Given the description of an element on the screen output the (x, y) to click on. 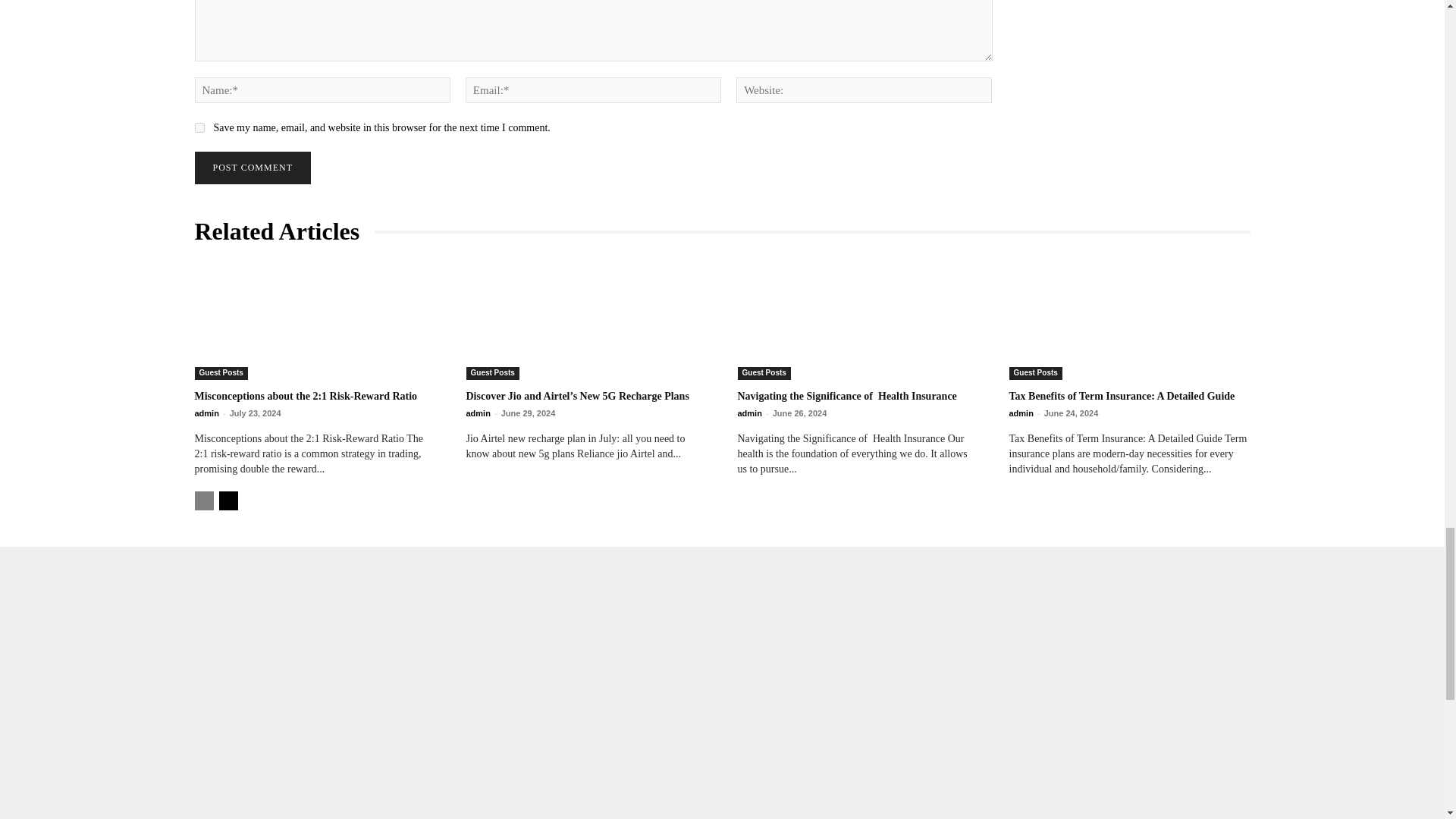
Post Comment (251, 167)
yes (198, 127)
